Given the description of an element on the screen output the (x, y) to click on. 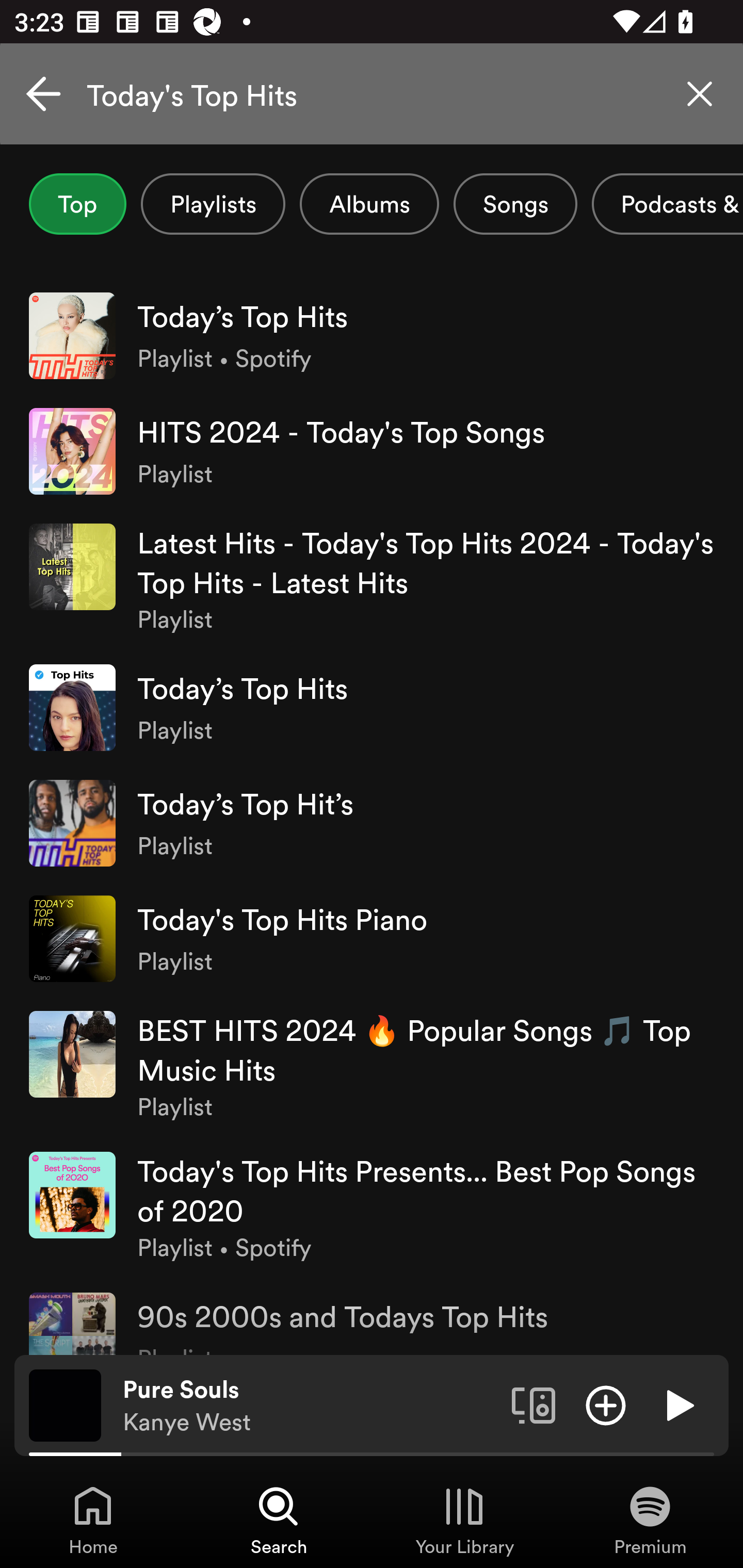
Today's Top Hits (371, 93)
Cancel (43, 93)
Clear search query (699, 93)
Top (77, 203)
Playlists (213, 203)
Albums (369, 203)
Songs (515, 203)
Podcasts & Shows (667, 203)
Today’s Top Hits Playlist • Spotify (371, 335)
HITS 2024 - Today's Top Songs Playlist (371, 451)
Today’s Top Hits Playlist (371, 707)
Today’s Top Hit’s Playlist (371, 823)
Today's Top Hits Piano Playlist (371, 939)
90s 2000s and Todays Top Hits Playlist (371, 1315)
Pure Souls Kanye West (309, 1405)
The cover art of the currently playing track (64, 1404)
